Given the description of an element on the screen output the (x, y) to click on. 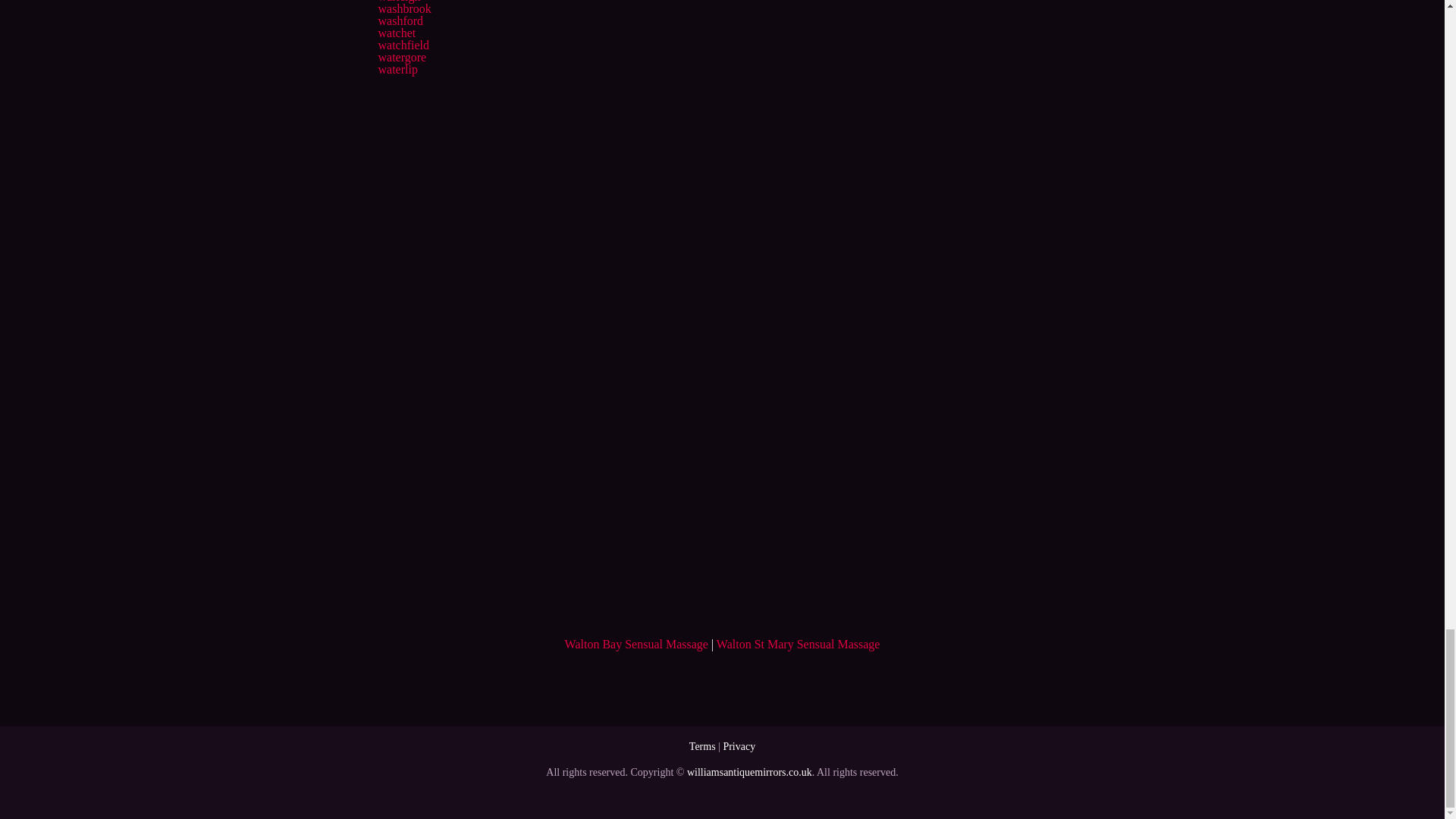
watergore (401, 56)
Walton Bay Sensual Massage (635, 644)
washbrook (403, 8)
washford (400, 20)
watchet (395, 32)
Privacy (738, 746)
warleigh (398, 1)
Privacy (738, 746)
Terms (702, 746)
Walton St Mary Sensual Massage (798, 644)
waterlip (396, 69)
williamsantiquemirrors.co.uk (749, 772)
Terms (702, 746)
watchfield (403, 44)
